Given the description of an element on the screen output the (x, y) to click on. 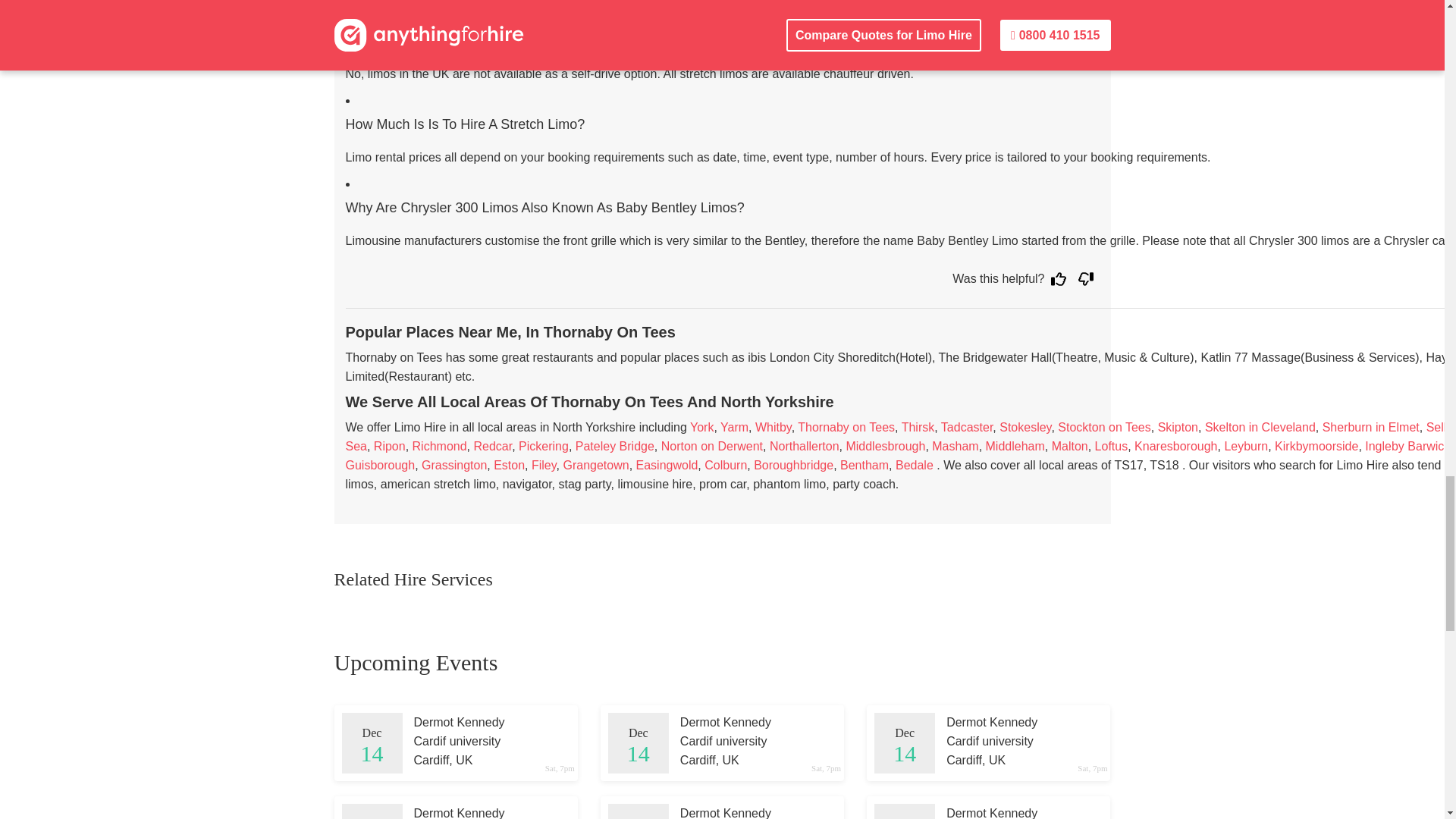
Skipton (1177, 427)
Skelton in Cleveland (1260, 427)
York (701, 427)
Selby (1441, 427)
Sherburn in Elmet (1370, 427)
Thirsk (917, 427)
Helpful (1058, 278)
Thornaby on Tees (846, 427)
Stokesley (1024, 427)
Yarm (734, 427)
